Given the description of an element on the screen output the (x, y) to click on. 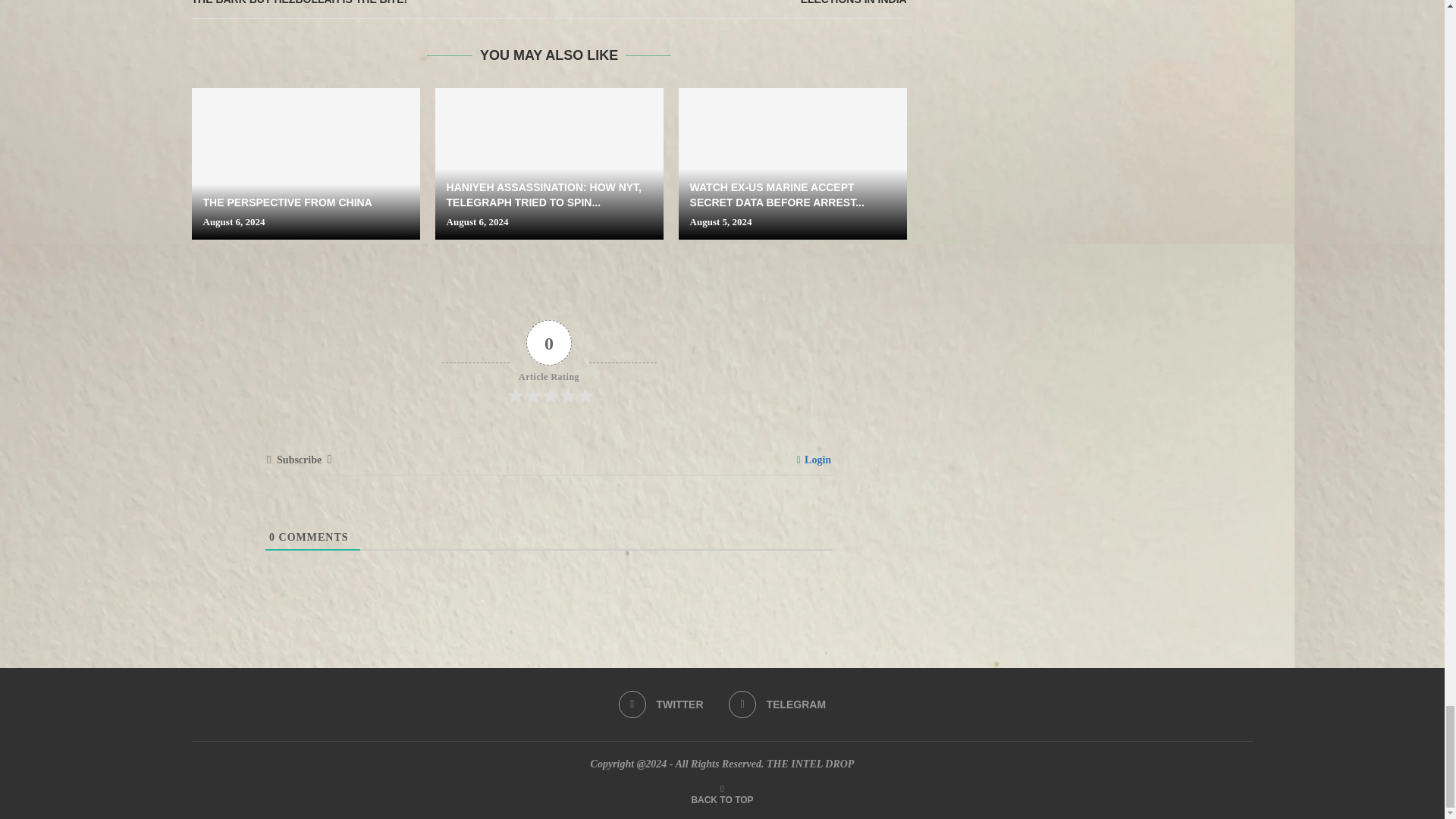
The Perspective From China (304, 163)
